Given the description of an element on the screen output the (x, y) to click on. 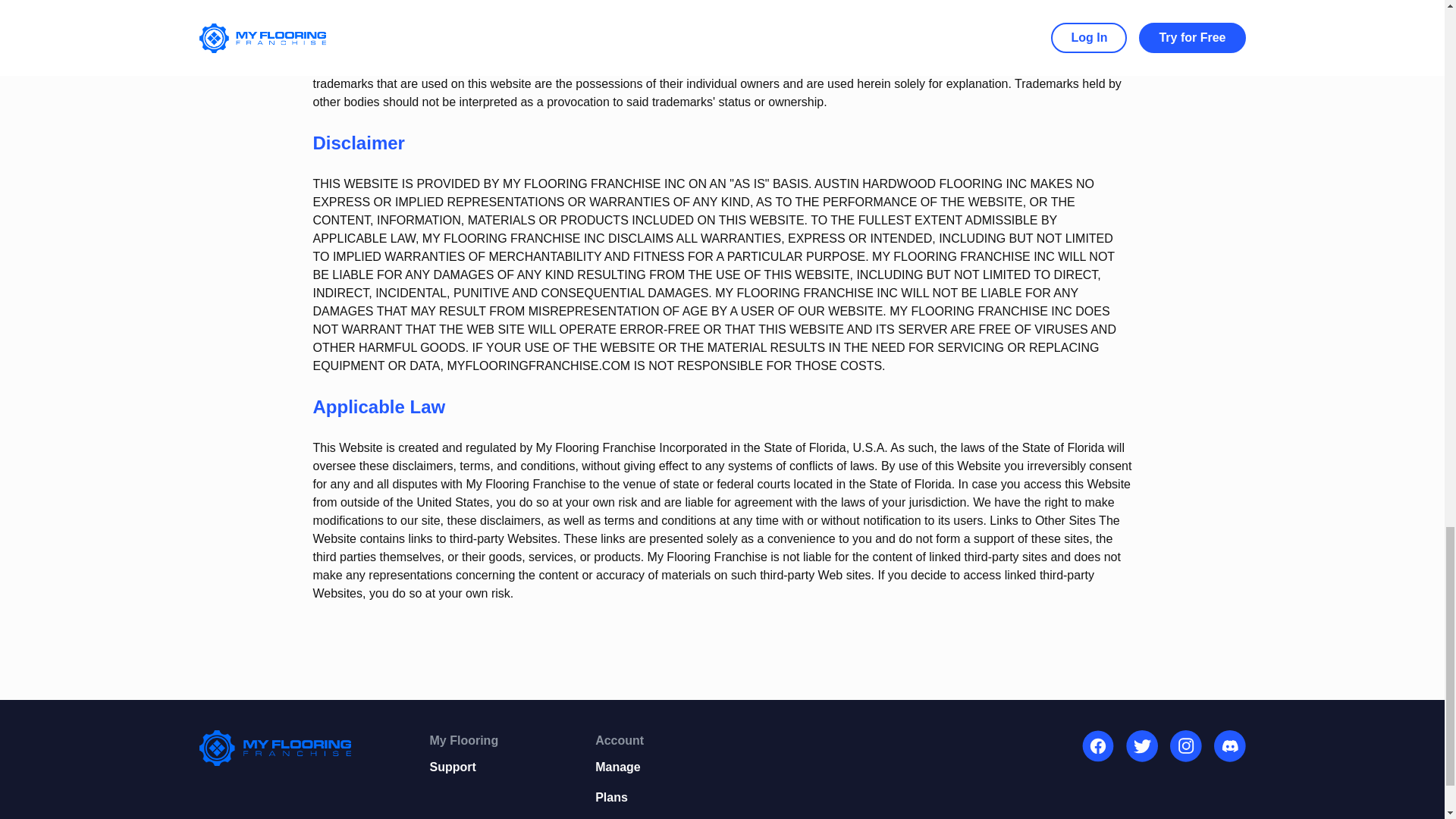
Manage (619, 767)
Plans (619, 797)
Support (463, 767)
